Given the description of an element on the screen output the (x, y) to click on. 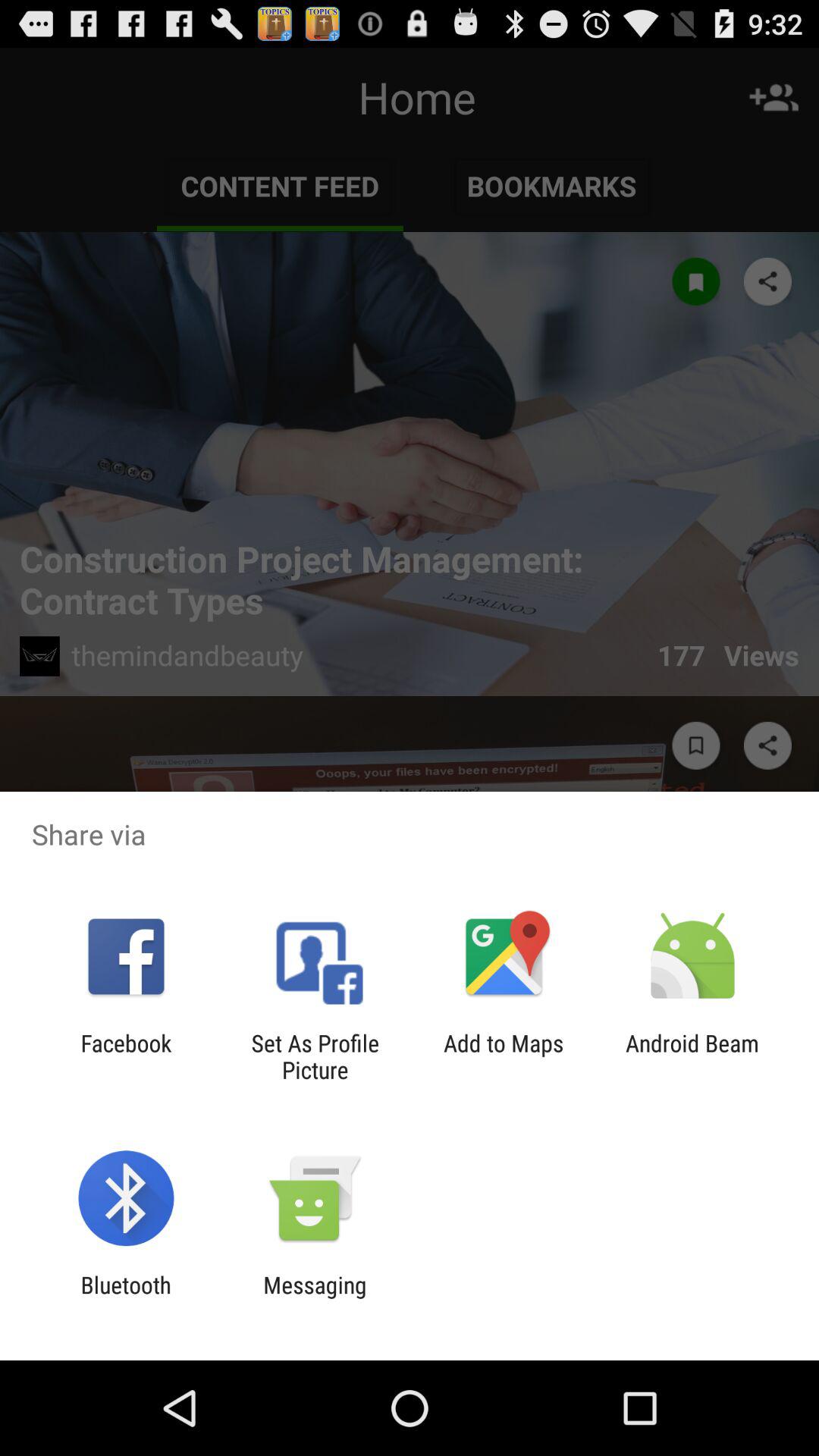
turn off the android beam at the bottom right corner (692, 1056)
